Given the description of an element on the screen output the (x, y) to click on. 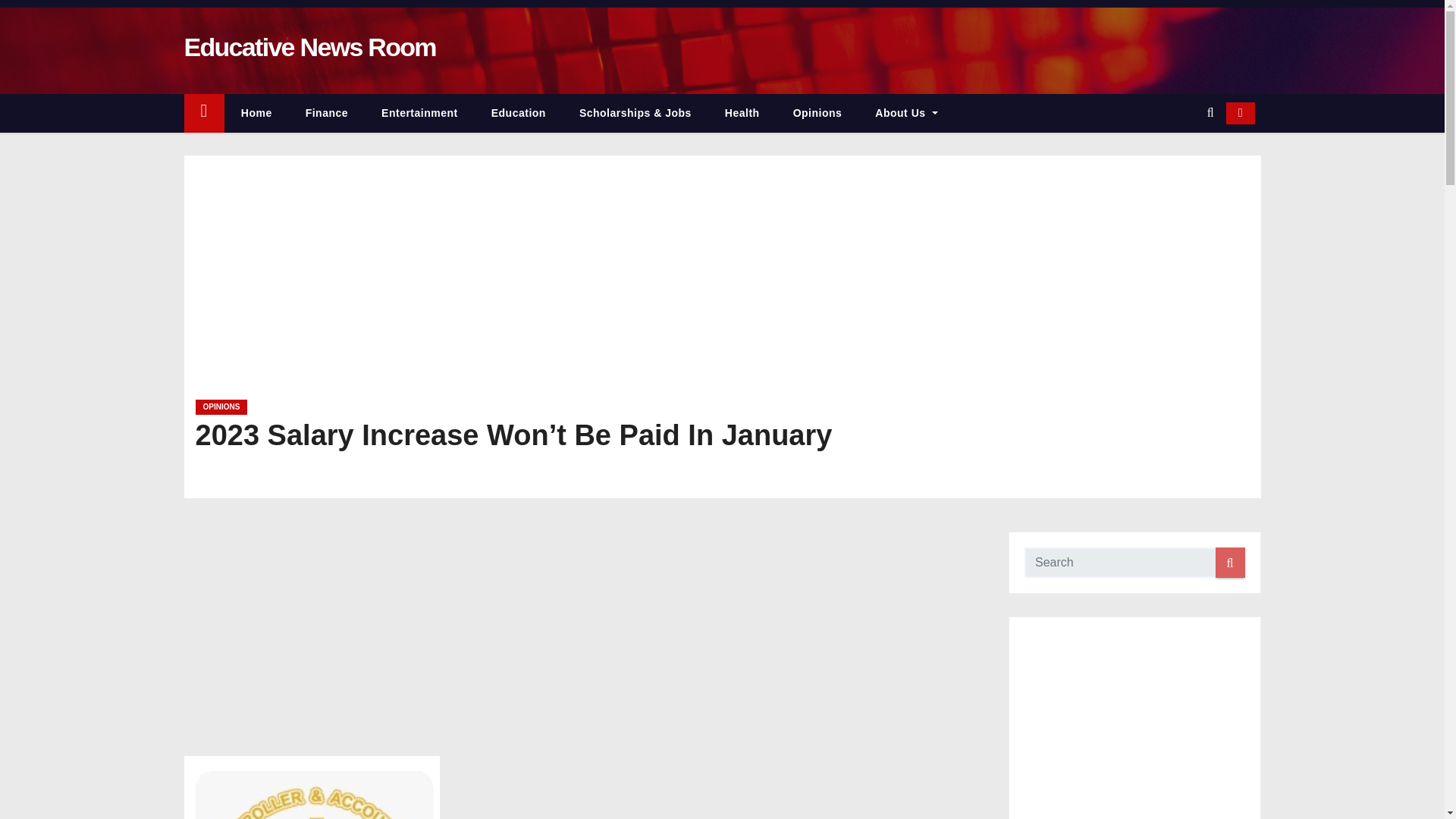
Health (741, 113)
Opinions (817, 113)
Education (518, 113)
About Us (906, 113)
Education (518, 113)
Opinions (817, 113)
Educative News Room (309, 46)
Home (256, 113)
About Us (906, 113)
OPINIONS (221, 406)
Health (741, 113)
Entertainment (419, 113)
Finance (326, 113)
